Given the description of an element on the screen output the (x, y) to click on. 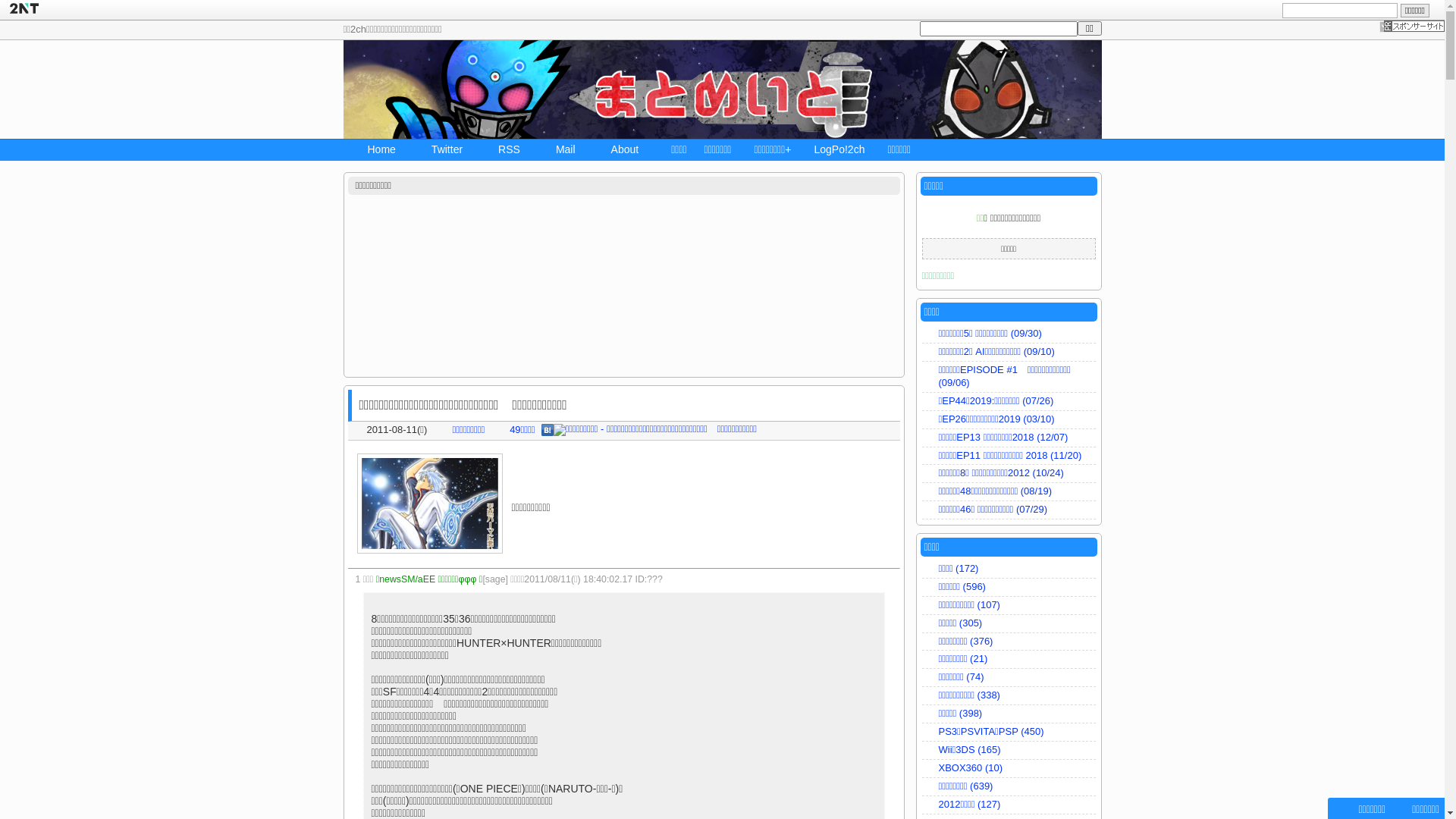
XBOX360 (10) Element type: text (1008, 768)
LogPo!2ch Element type: text (839, 150)
Mail Element type: text (558, 150)
About Element type: text (618, 150)
Twitter Element type: text (440, 150)
RSS Element type: text (502, 150)
Home Element type: text (374, 150)
